Given the description of an element on the screen output the (x, y) to click on. 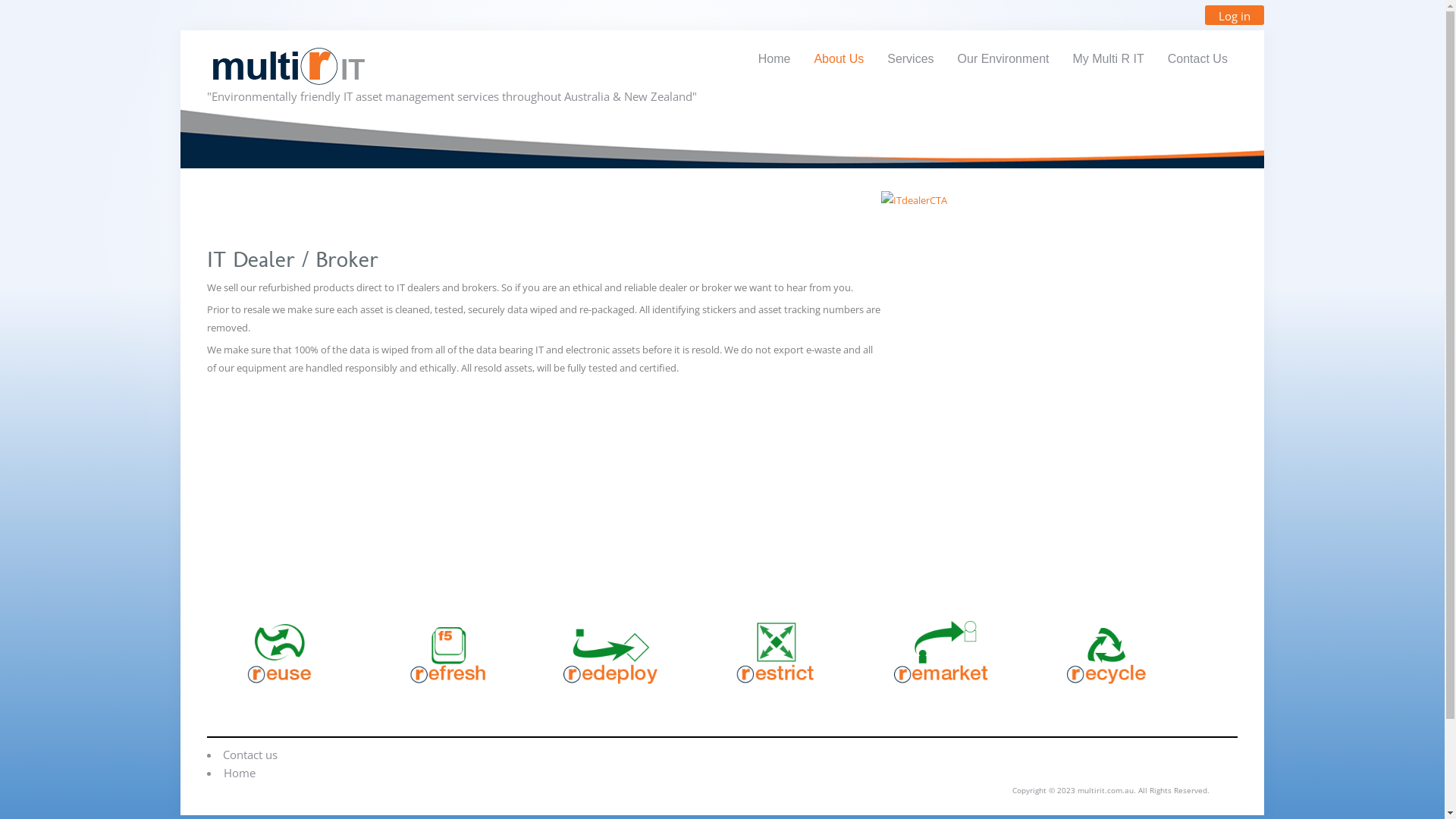
My Multi R IT Element type: text (1108, 58)
About Us Element type: text (838, 58)
Home Element type: text (774, 58)
Contact us Element type: text (249, 754)
Our Environment Element type: text (1003, 58)
Home Element type: text (239, 772)
Services Element type: text (910, 58)
Contact Us Element type: text (1197, 58)
